Given the description of an element on the screen output the (x, y) to click on. 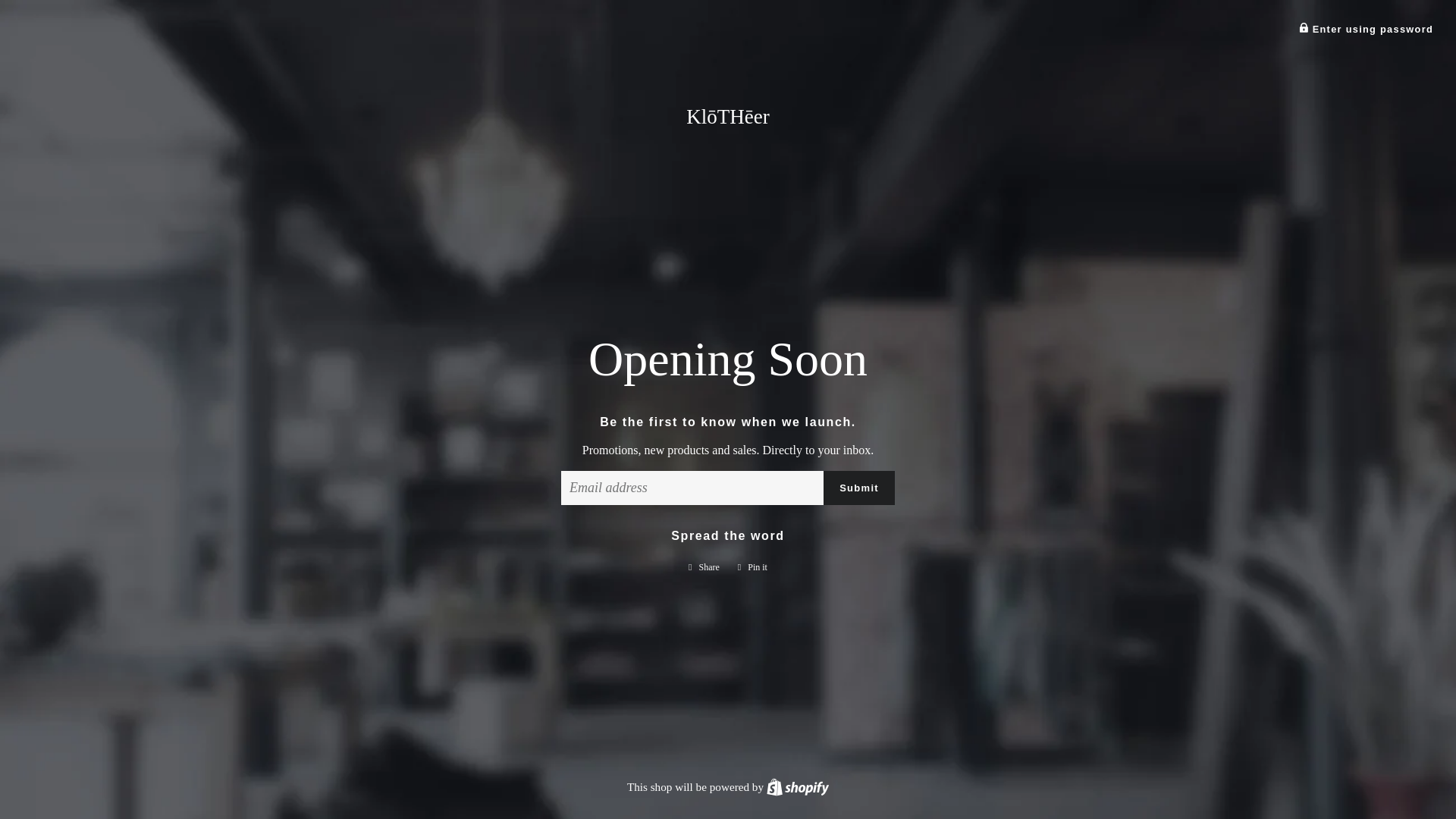
Create your own online store with Shopify (797, 786)
Pin on Pinterest (752, 566)
Shopify logo (797, 787)
Lock icon (752, 566)
Lock icon Enter using password (1303, 27)
Share on Facebook (1365, 29)
Submit (703, 566)
Submit (797, 786)
